Given the description of an element on the screen output the (x, y) to click on. 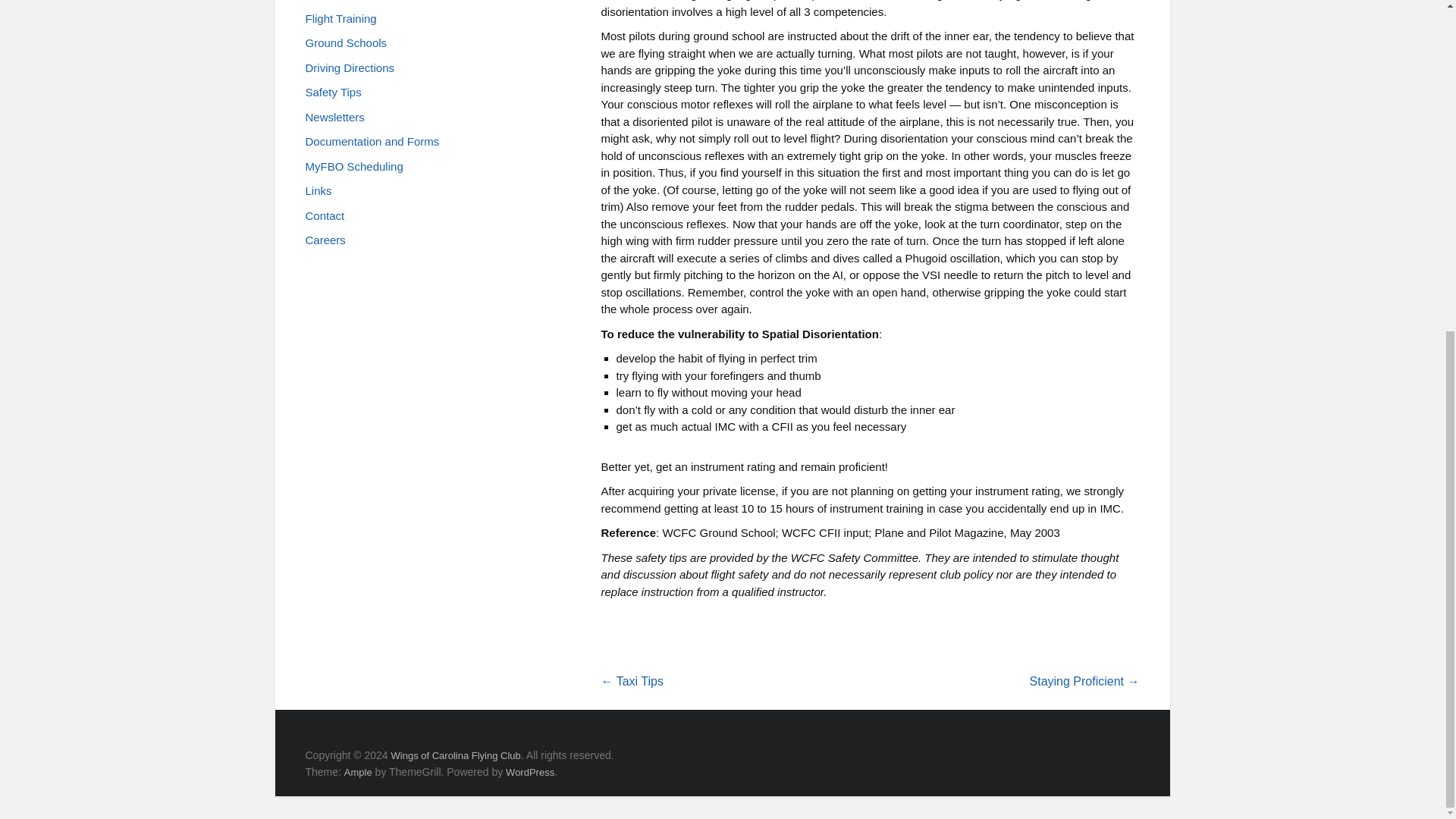
WordPress (529, 772)
Ample (357, 772)
WordPress (529, 772)
Ample (357, 772)
Newsletters (334, 121)
Wings of Carolina Flying Club (456, 755)
Driving Directions (349, 72)
Careers (324, 244)
MyFBO Scheduling (353, 170)
Links (317, 195)
